Given the description of an element on the screen output the (x, y) to click on. 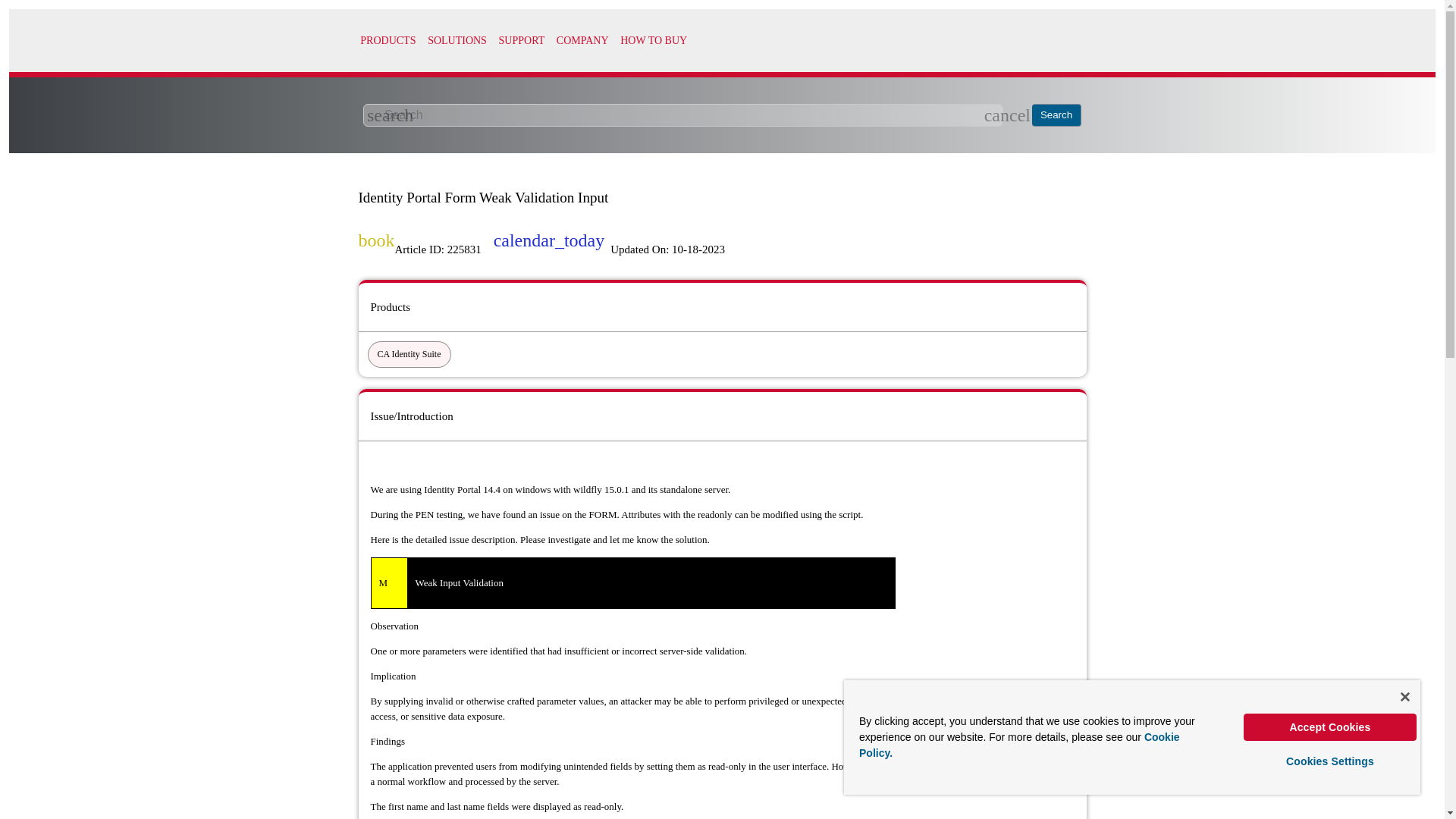
Search (1056, 115)
Accept Cookies (1329, 727)
Cookie Policy. (1019, 745)
Cookies Settings (1329, 760)
